Given the description of an element on the screen output the (x, y) to click on. 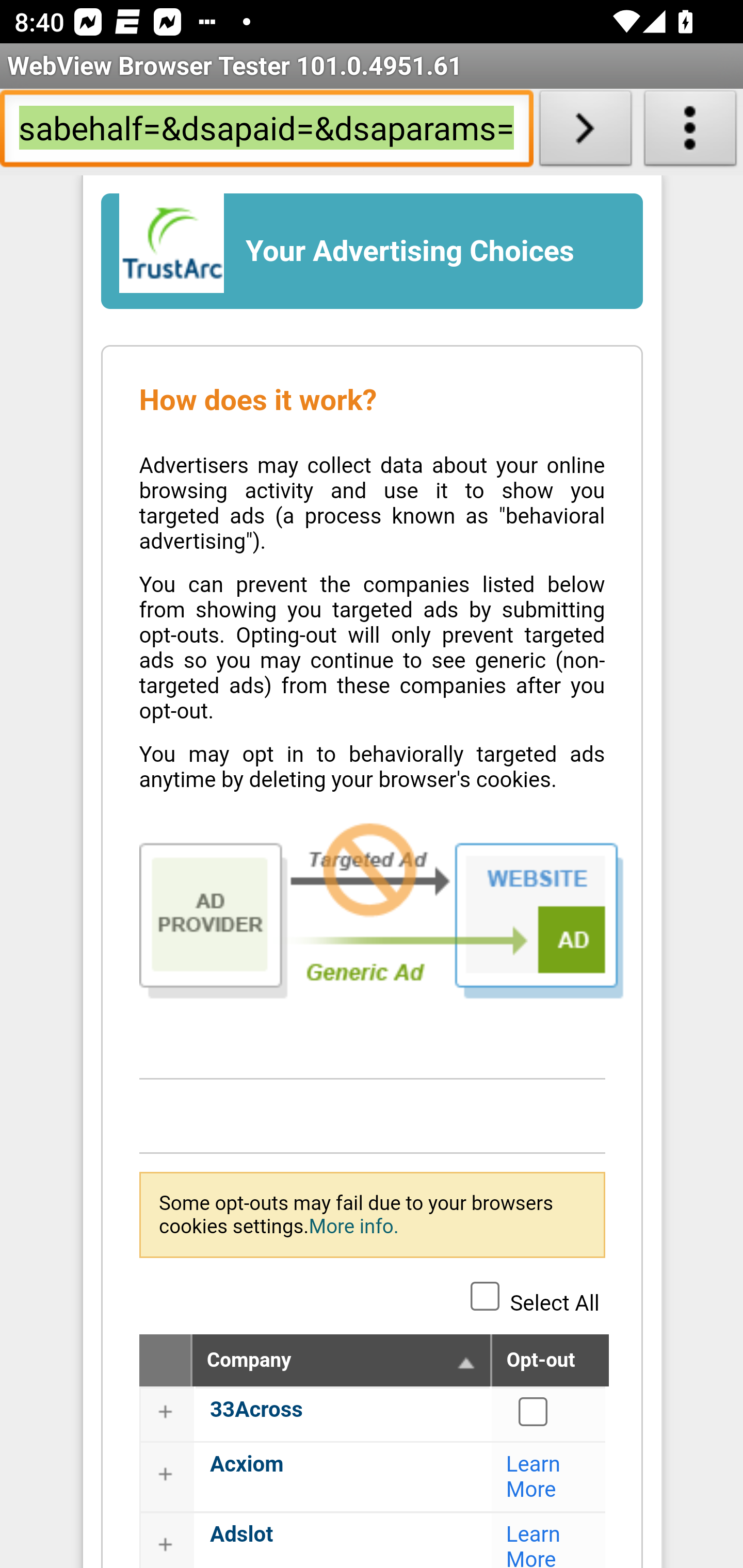
Load URL (585, 132)
About WebView (690, 132)
More info. (352, 1225)
 Select All  (484, 1294)
Company list, sort alphabetically ascending (466, 1361)
33Across (256, 1408)
33Across (533, 1410)
Acxiom (247, 1464)
Learn More (533, 1476)
Adslot (241, 1535)
Learn More (533, 1545)
